Given the description of an element on the screen output the (x, y) to click on. 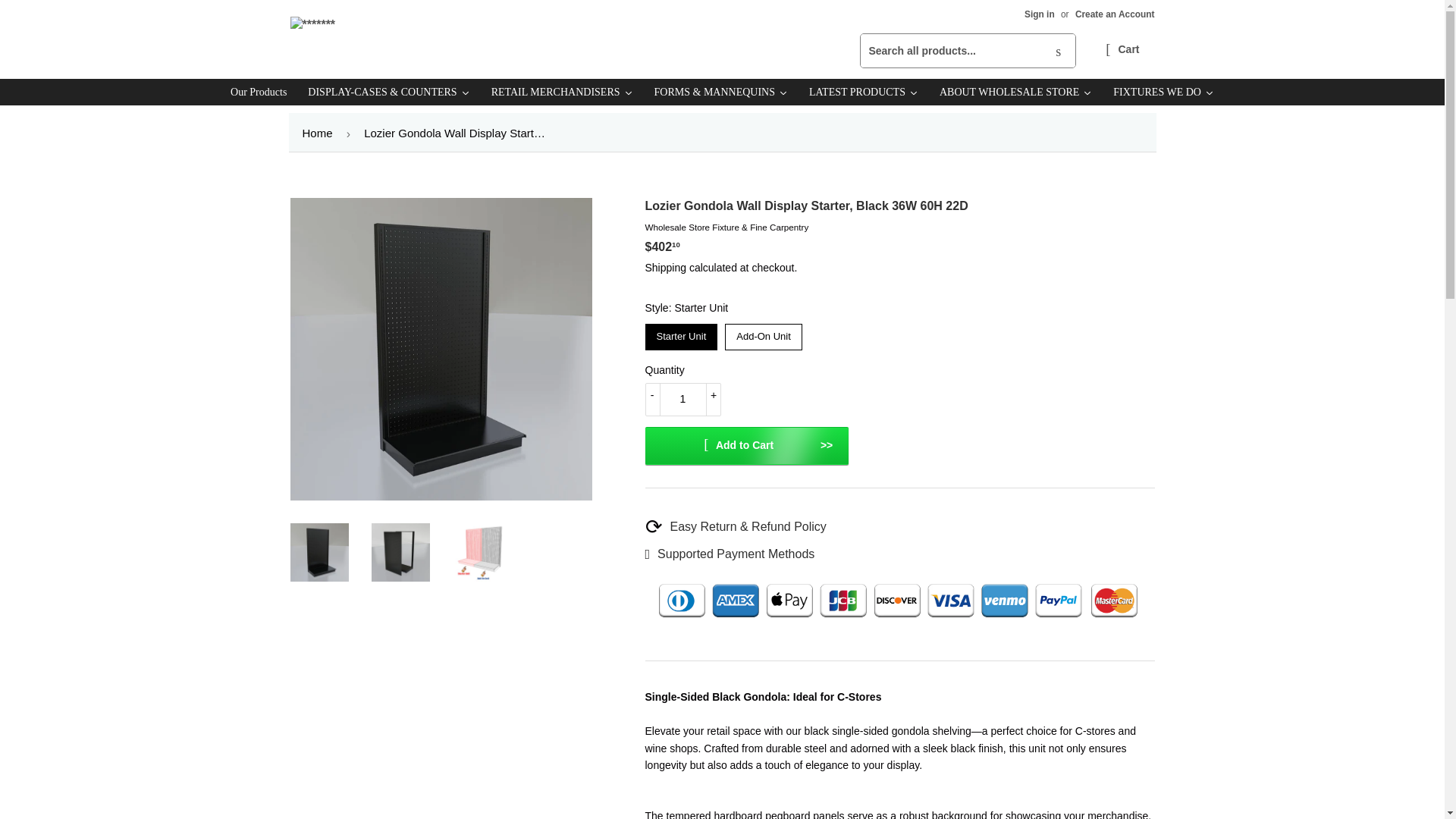
ABOUT WHOLESALE STORE (1015, 91)
RETAIL MERCHANDISERS (561, 91)
RETAIL MERCHANDISERS (561, 91)
Our Products (258, 91)
Cart (1122, 49)
Our Products (258, 91)
1 (682, 399)
LATEST PRODUCTS (862, 91)
ABOUT WHOLESALE STORE (1015, 91)
FIXTURES WE DO (1163, 91)
Create an Account (1114, 14)
LATEST PRODUCTS (862, 91)
FIXTURES WE DO (1163, 91)
Sign in (1039, 14)
Shipping (665, 267)
